Given the description of an element on the screen output the (x, y) to click on. 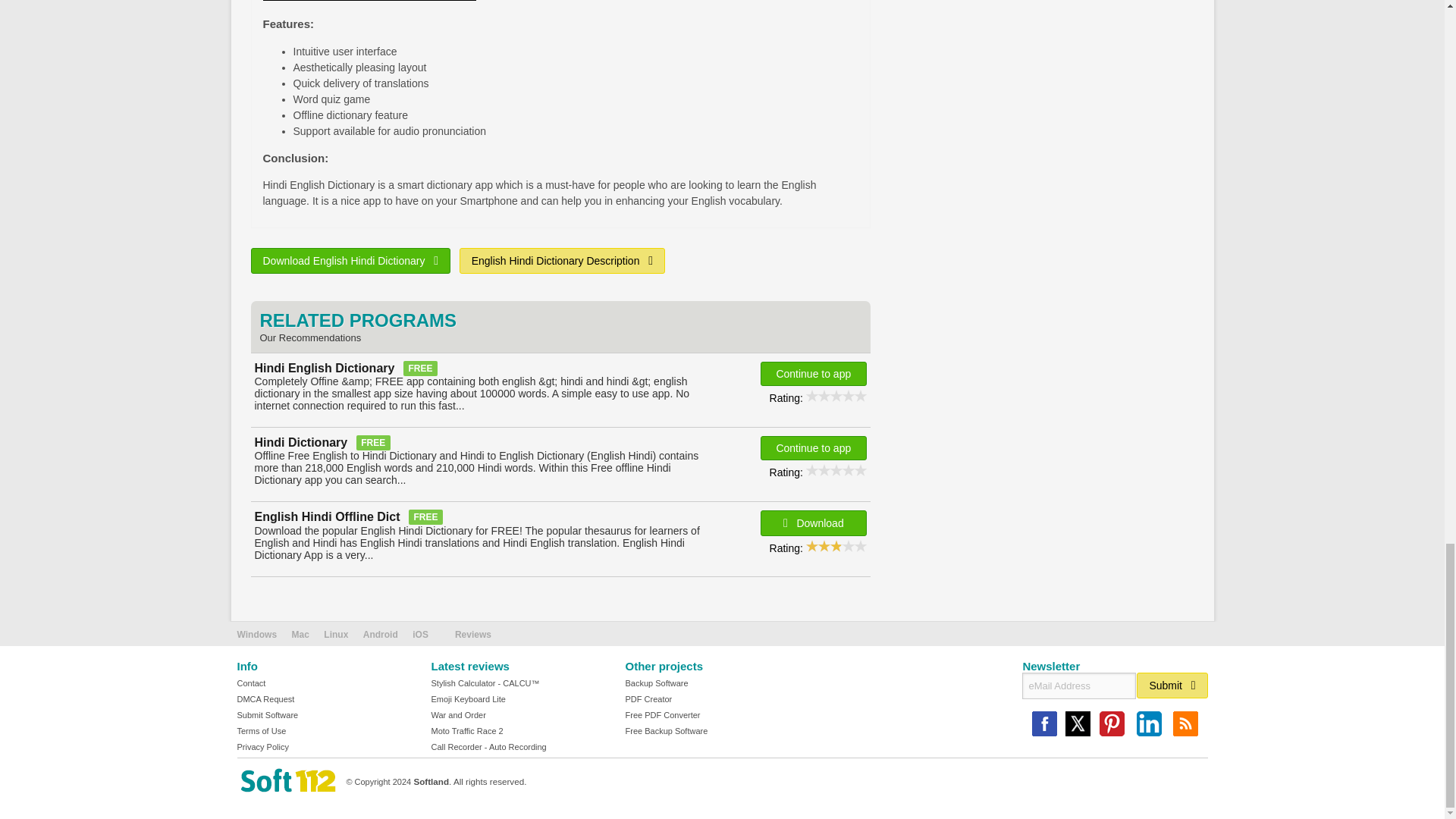
Mac (300, 634)
Continue to app (813, 447)
Windows (255, 634)
Continue to app (813, 373)
Download English Hindi Dictionary   (349, 260)
  Download (813, 523)
Linux (335, 634)
English Hindi Dictionary Description   (562, 260)
